Given the description of an element on the screen output the (x, y) to click on. 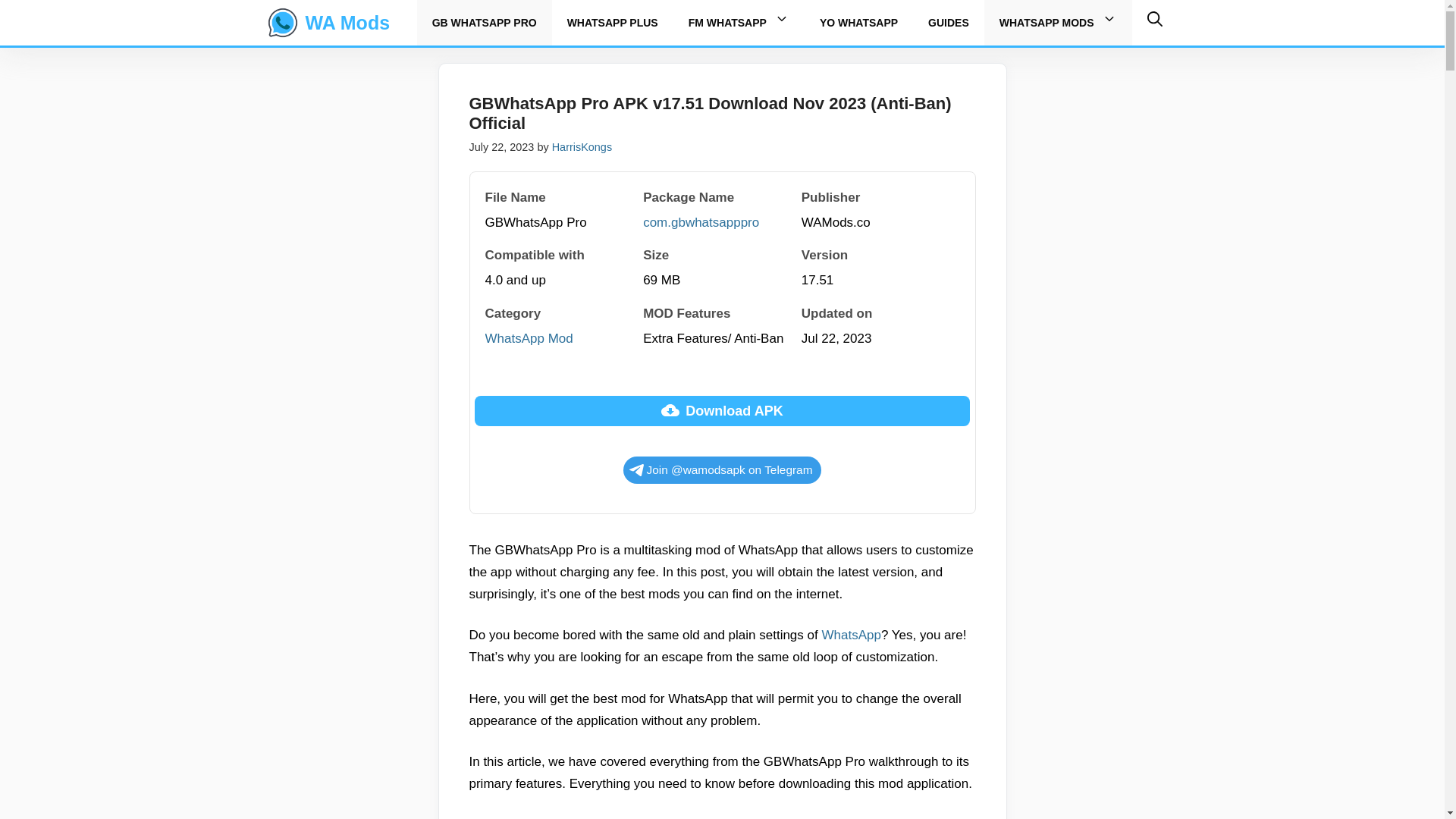
Join @wamodsapk on Telegram Element type: text (722, 469)
FM WHATSAPP Element type: text (738, 22)
WHATSAPP PLUS Element type: text (612, 22)
HarrisKongs Element type: text (581, 147)
com.gbwhatsapppro Element type: text (701, 222)
GB WHATSAPP PRO Element type: text (484, 22)
WA Mods Element type: hover (281, 22)
GUIDES Element type: text (948, 22)
WHATSAPP MODS Element type: text (1058, 22)
WhatsApp Element type: text (850, 634)
WhatsApp Mod Element type: text (529, 338)
YO WHATSAPP Element type: text (858, 22)
WA Mods Element type: text (346, 22)
Download APK Element type: text (721, 410)
